Given the description of an element on the screen output the (x, y) to click on. 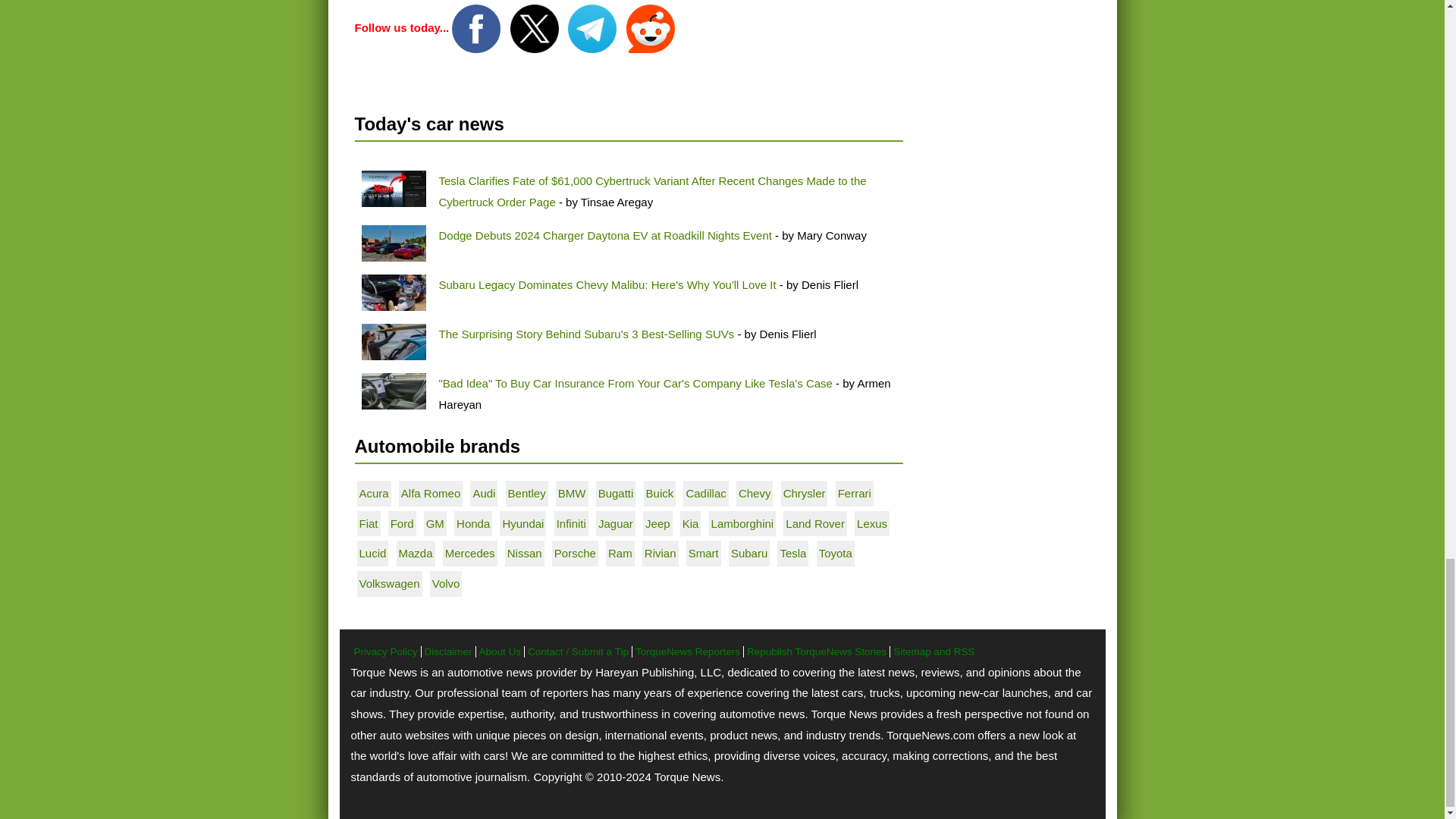
Alfa Romeo (430, 492)
Dodge Photo (393, 243)
2024 Subaru Crosstrek with a customer and her surfboard (393, 341)
Join us on Telegram! (593, 27)
BMW (571, 492)
2025 Subaru Legacy with a customer in the showroom (393, 292)
